Given the description of an element on the screen output the (x, y) to click on. 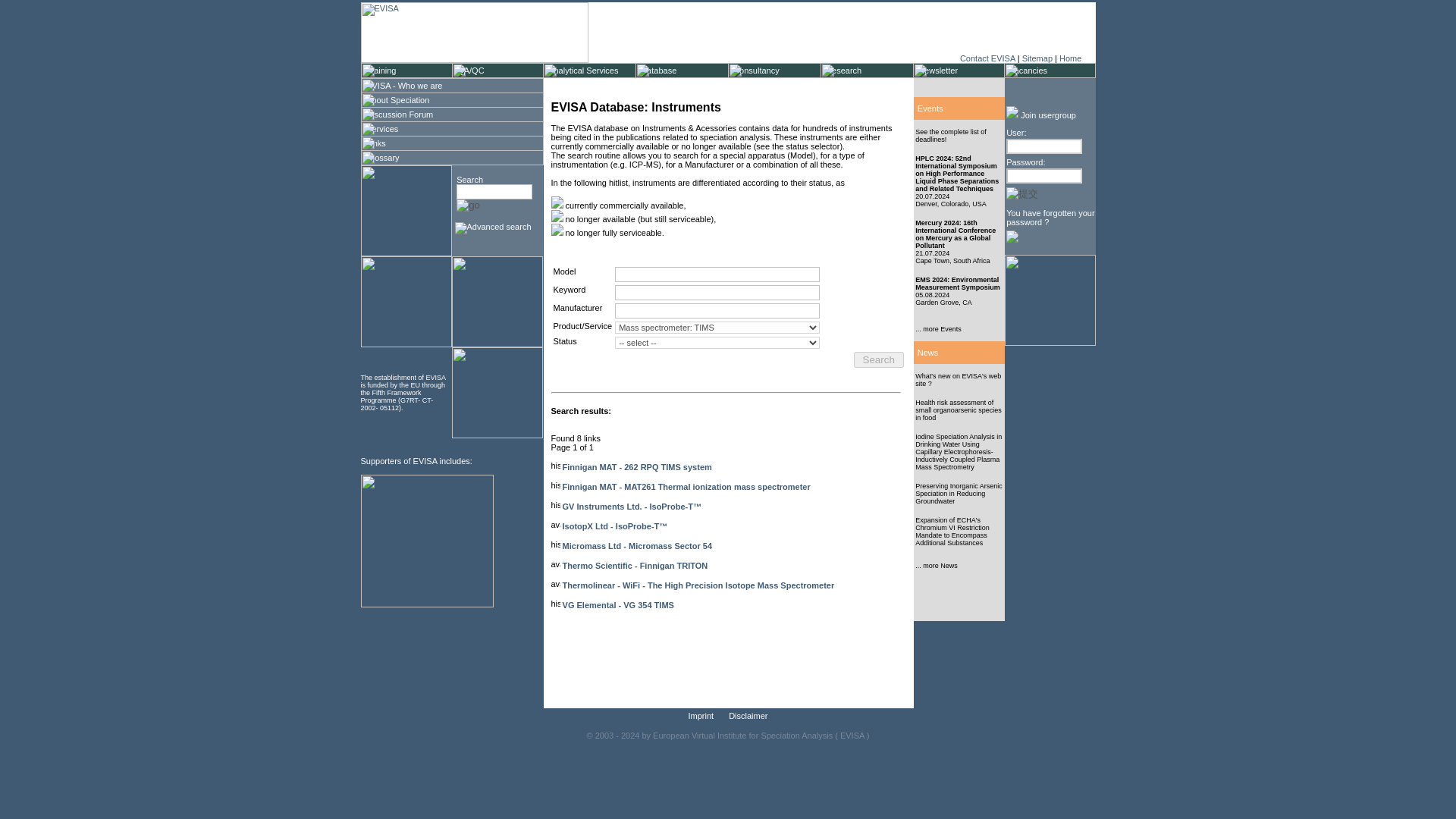
Micromass Ltd - Micromass Sector 54 (636, 545)
Finnigan MAT - 262 RPQ TIMS system (636, 466)
Sitemap (1037, 58)
 Search  (878, 359)
go (468, 205)
Finnigan MAT - MAT261 Thermal ionization mass spectrometer (686, 486)
 Search  (878, 359)
Contact EVISA (986, 58)
Home (1070, 58)
